Given the description of an element on the screen output the (x, y) to click on. 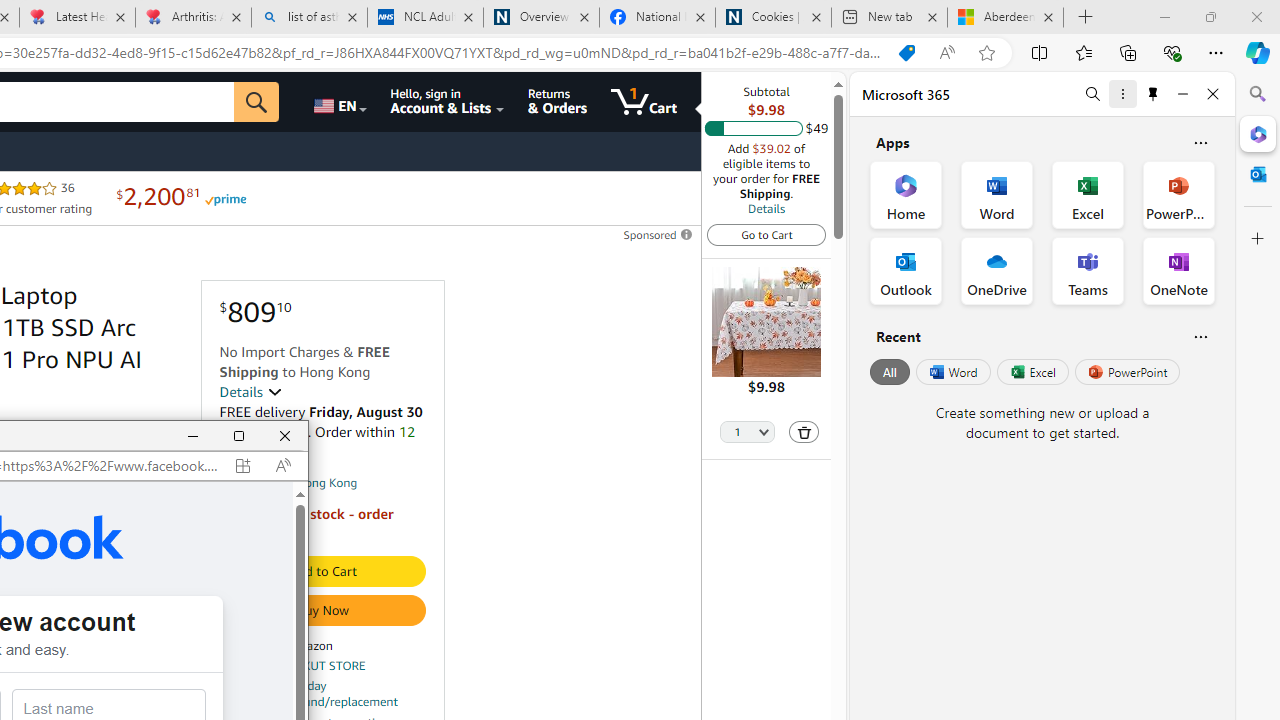
Delete (803, 431)
Details  (250, 391)
Choose a language for shopping. (339, 101)
Excel Office App (1087, 194)
Home Office App (906, 194)
OneDrive Office App (996, 270)
You have the best price! (906, 53)
All (890, 372)
